Given the description of an element on the screen output the (x, y) to click on. 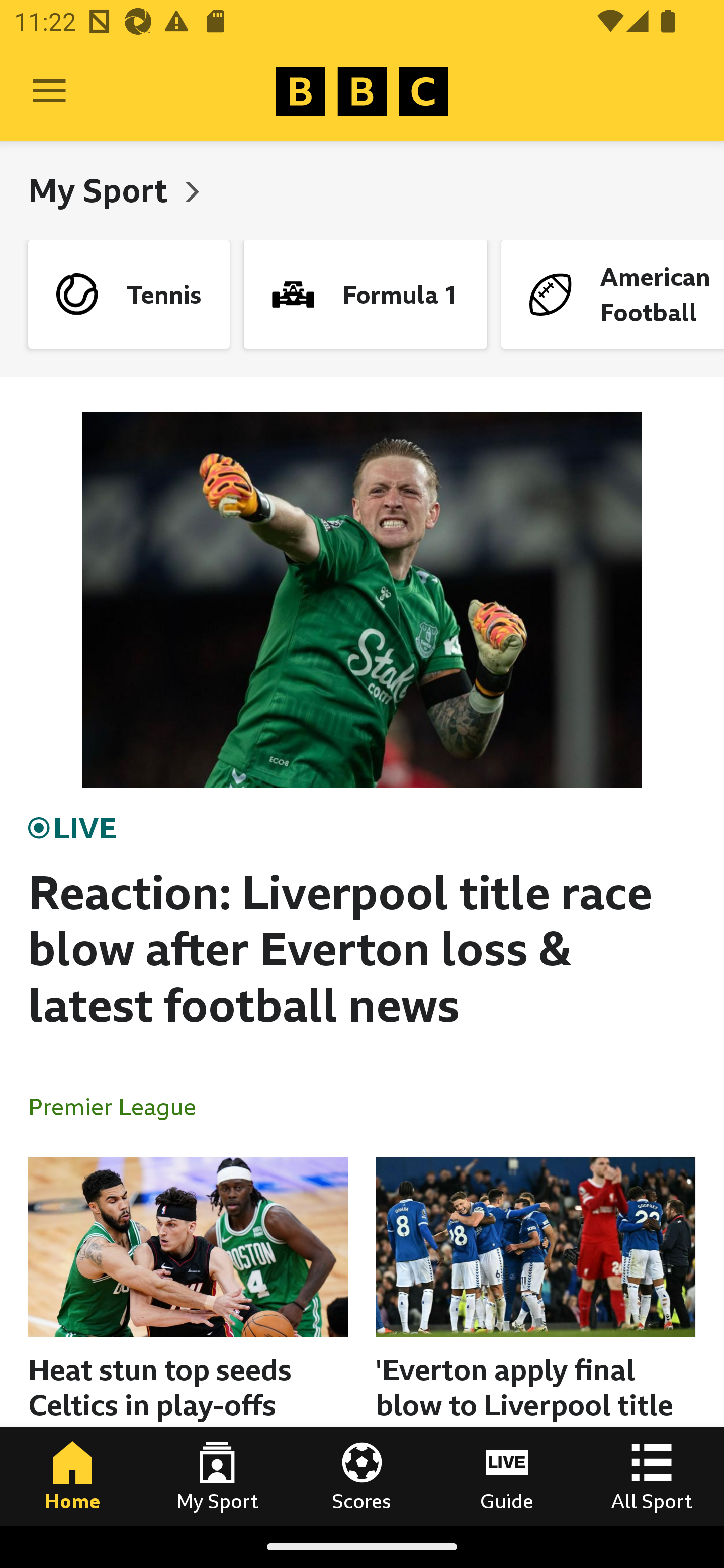
Open Menu (49, 91)
My Sport (101, 190)
Premier League In the section Premier League (119, 1106)
My Sport (216, 1475)
Scores (361, 1475)
Guide (506, 1475)
All Sport (651, 1475)
